Given the description of an element on the screen output the (x, y) to click on. 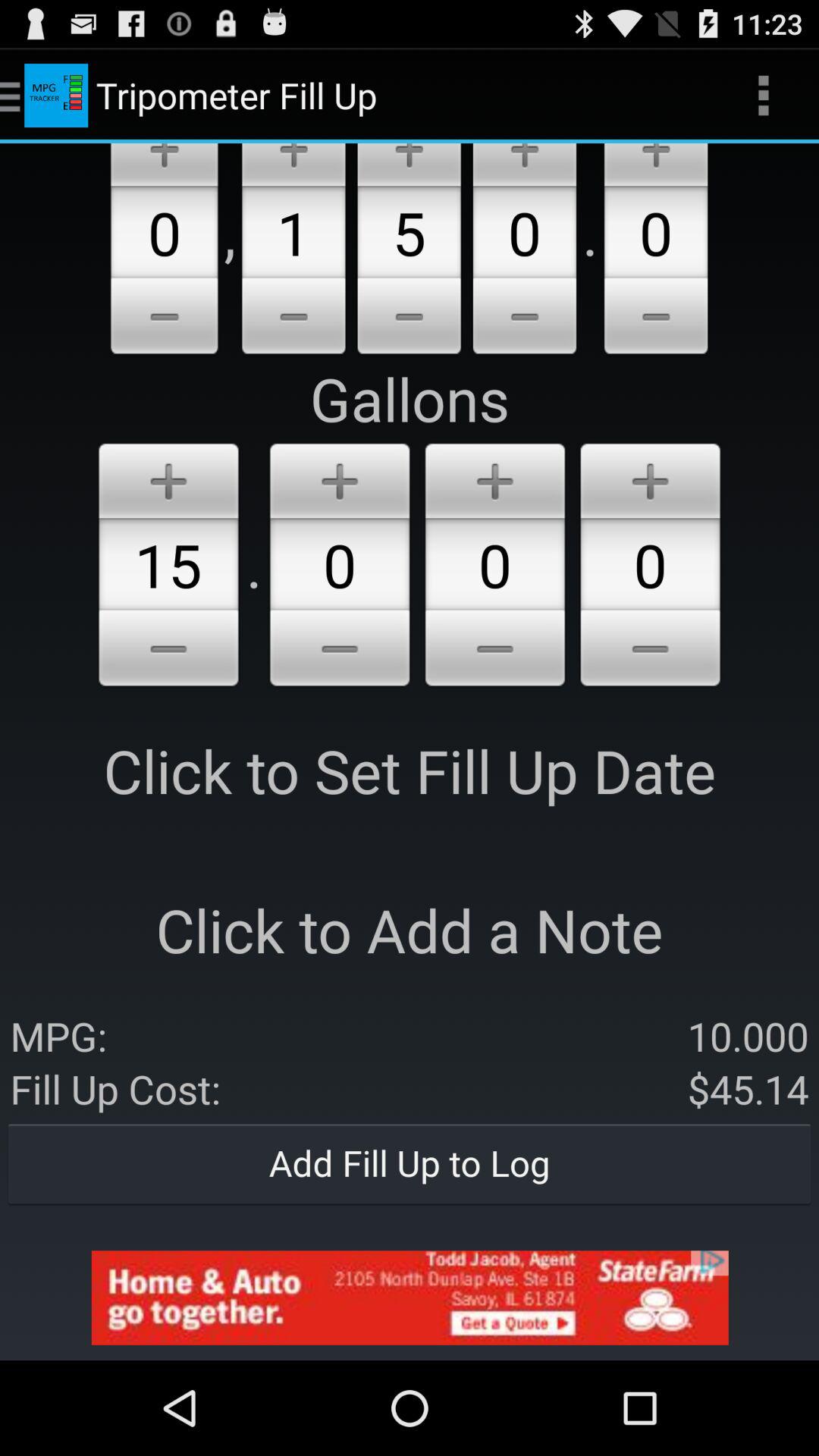
increase the number (650, 478)
